Given the description of an element on the screen output the (x, y) to click on. 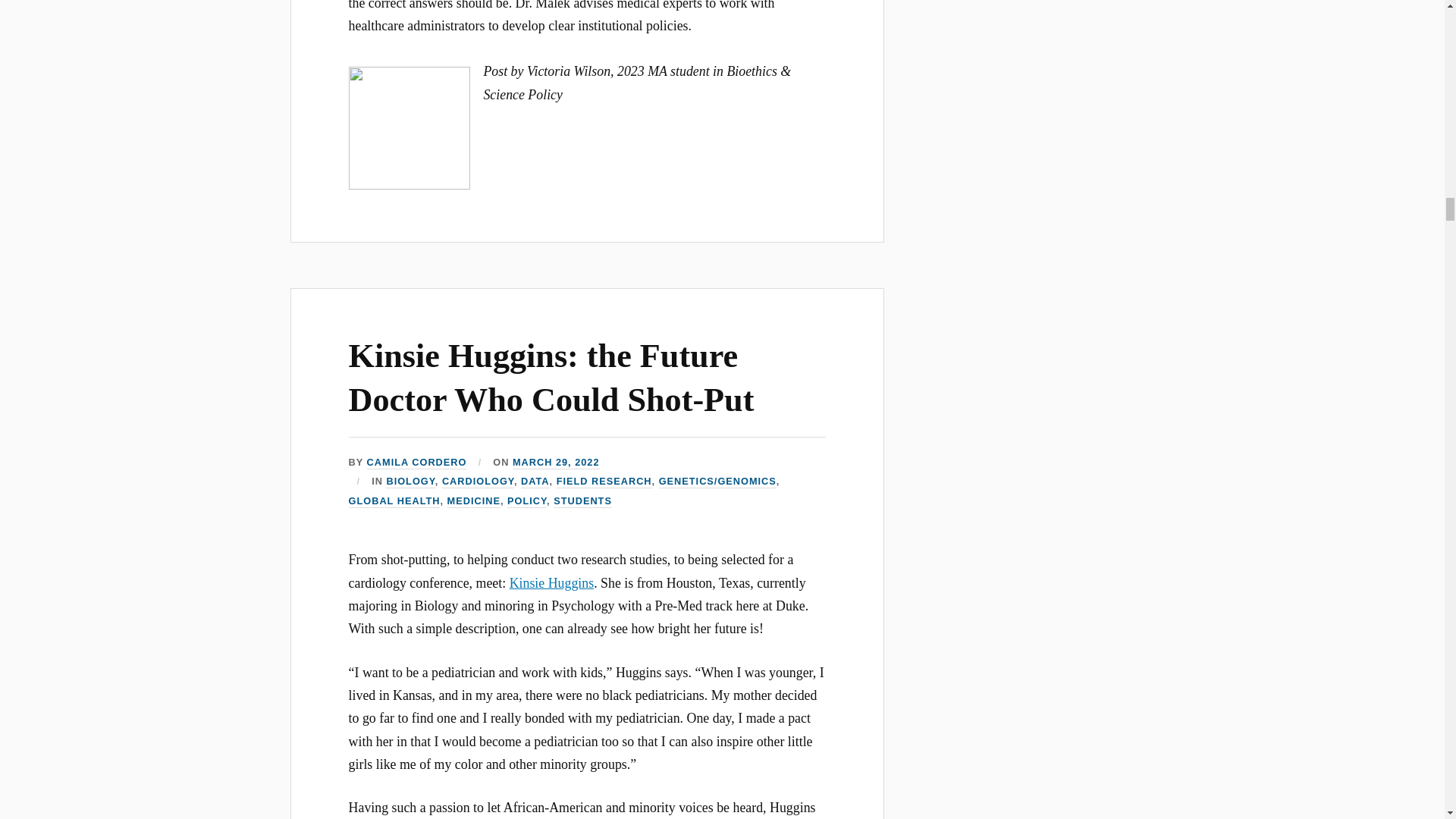
Posts by Camila Cordero (416, 462)
CAMILA CORDERO (416, 462)
Kinsie Huggins: the Future Doctor Who Could Shot-Put (551, 377)
